Given the description of an element on the screen output the (x, y) to click on. 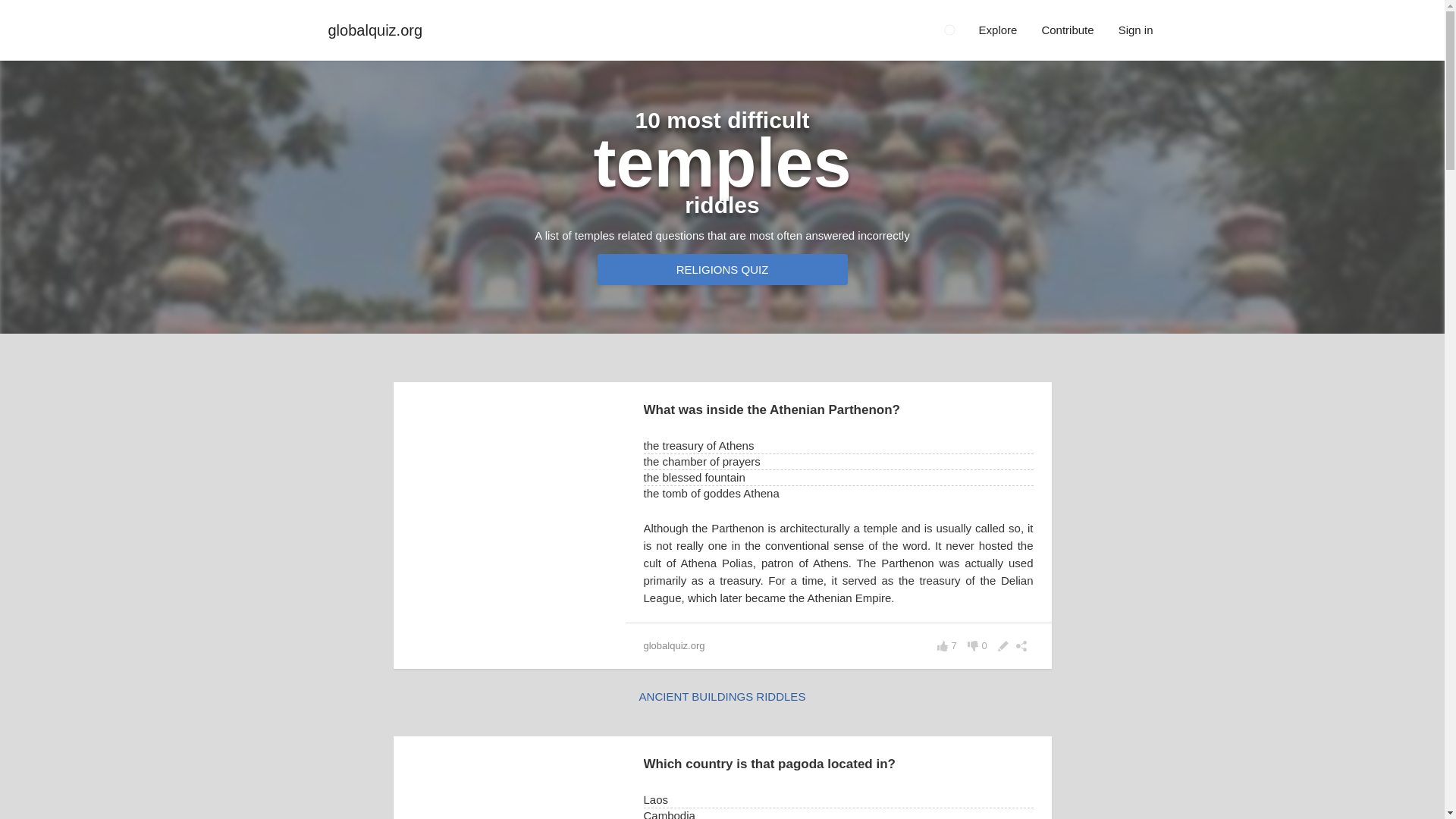
globalquiz.org (344, 30)
RELIGIONS QUIZ (721, 269)
ANCIENT BUILDINGS RIDDLES (721, 695)
